Given the description of an element on the screen output the (x, y) to click on. 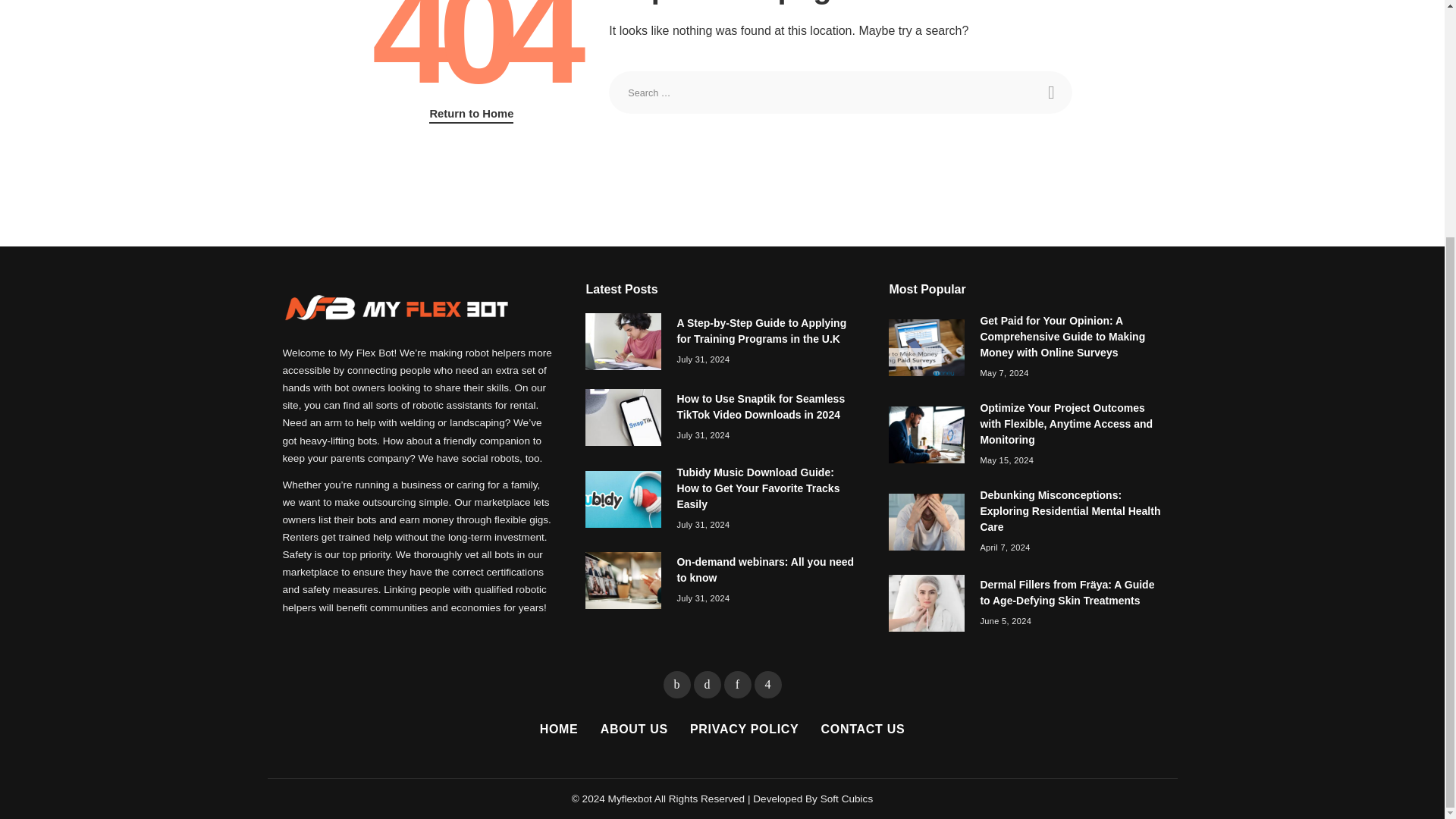
Search (1050, 92)
Return to Home (471, 114)
Search (1050, 92)
